Given the description of an element on the screen output the (x, y) to click on. 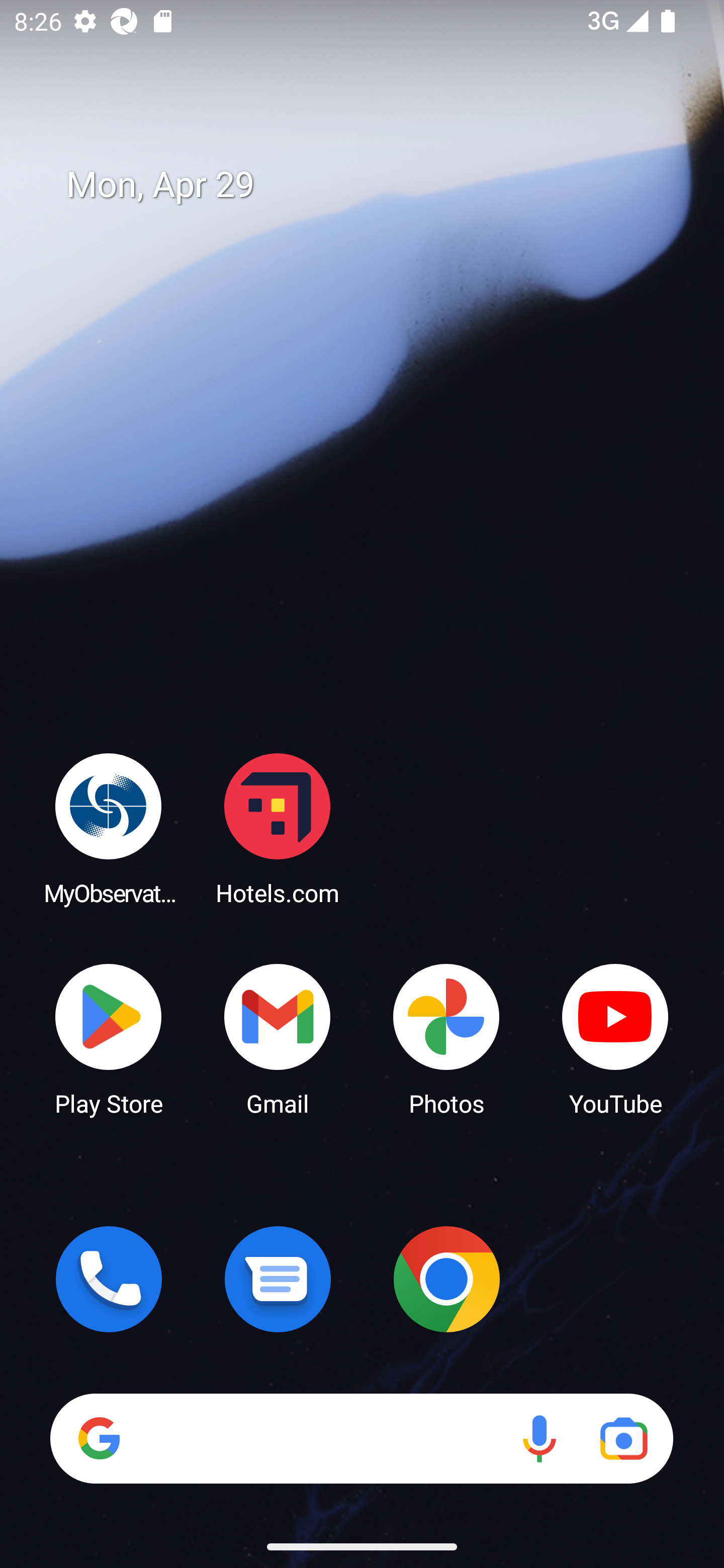
Mon, Apr 29 (375, 184)
MyObservatory (108, 828)
Hotels.com (277, 828)
Play Store (108, 1038)
Gmail (277, 1038)
Photos (445, 1038)
YouTube (615, 1038)
Phone (108, 1279)
Messages (277, 1279)
Chrome (446, 1279)
Search Voice search Google Lens (361, 1438)
Voice search (539, 1438)
Google Lens (623, 1438)
